Given the description of an element on the screen output the (x, y) to click on. 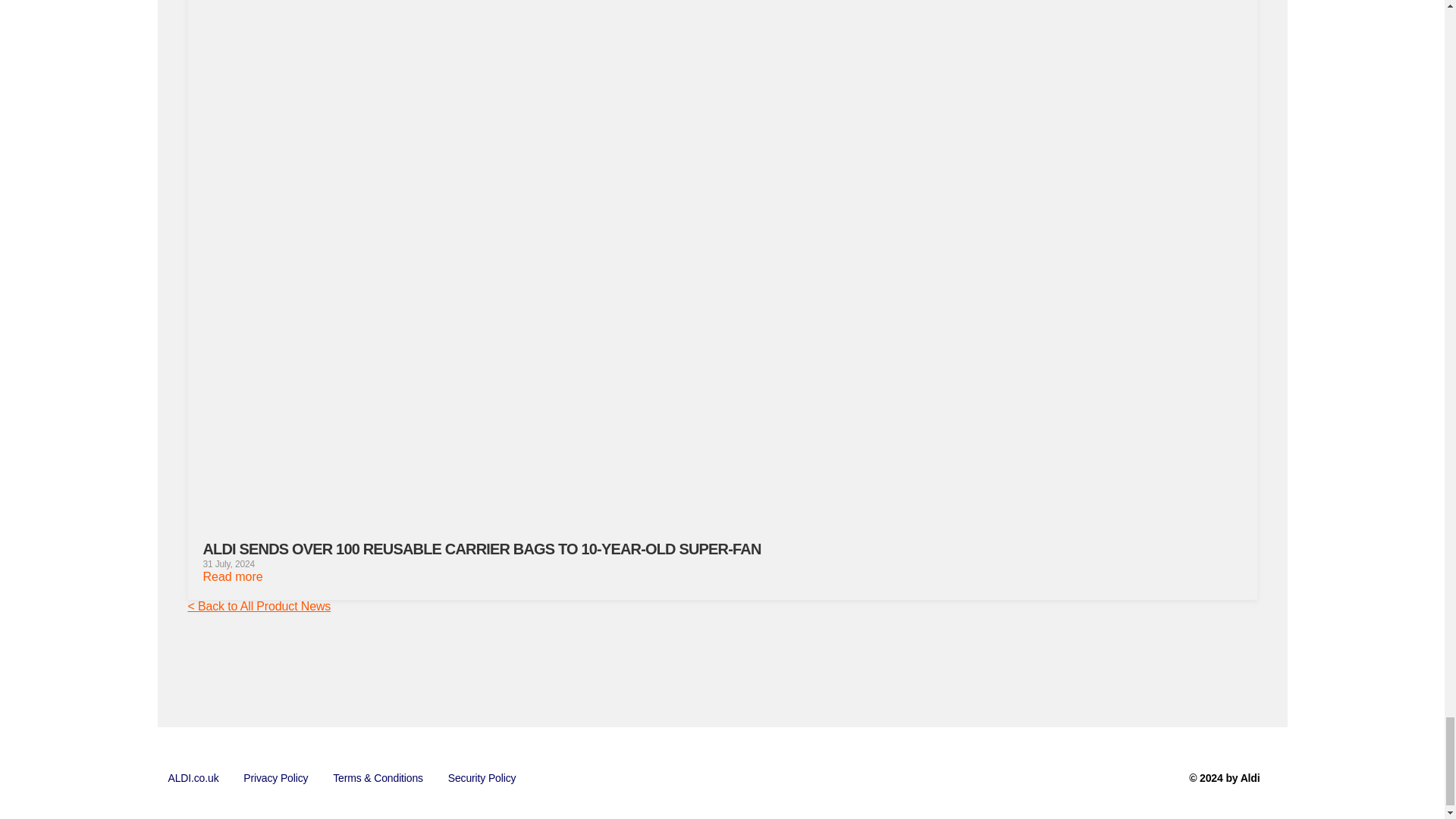
Privacy Policy (275, 778)
ALDI.co.uk (193, 778)
